Given the description of an element on the screen output the (x, y) to click on. 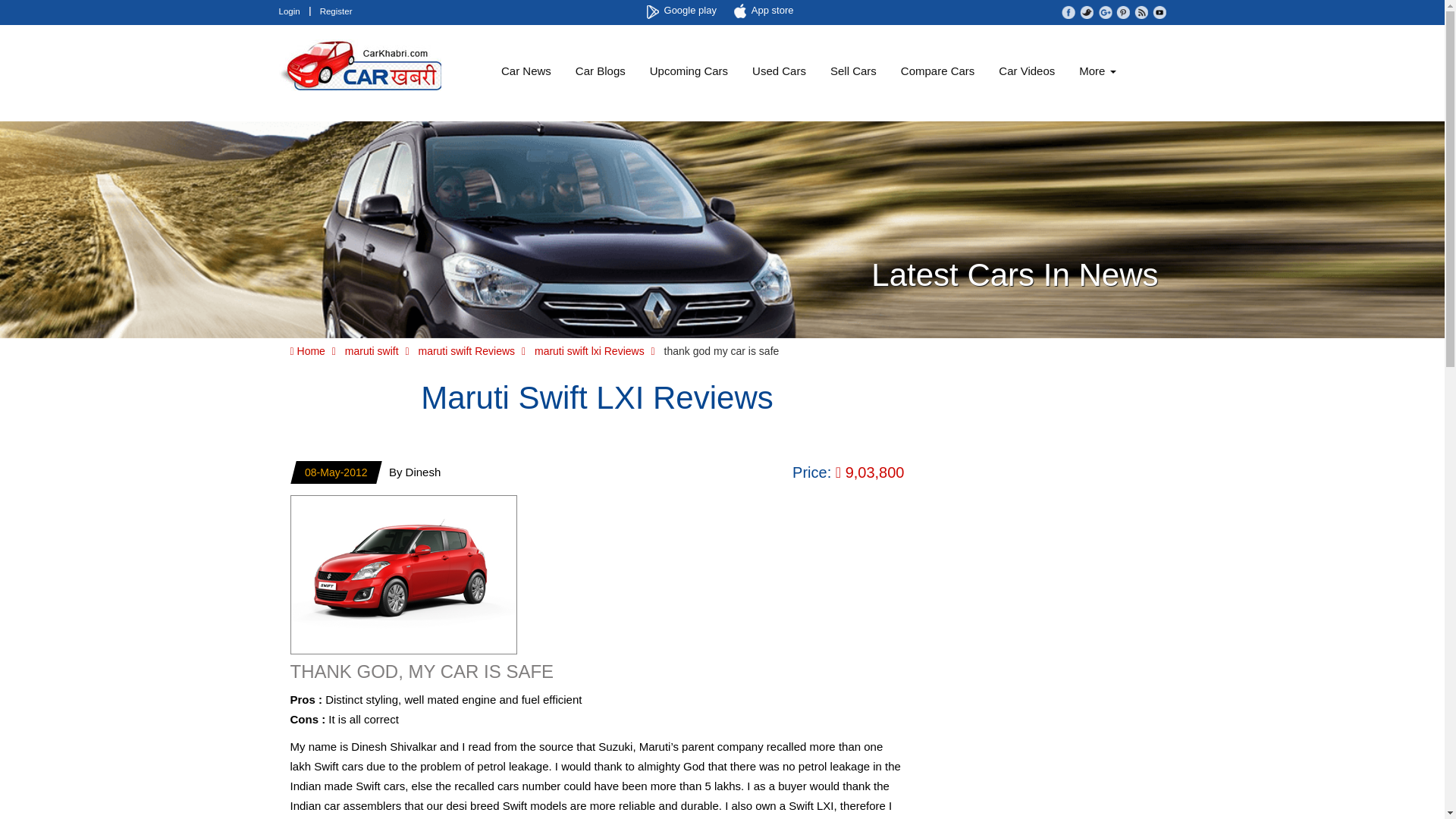
maruti swift lxi Reviews (589, 350)
More (1096, 70)
Car Blogs (600, 70)
Car News (526, 70)
Sell Cars (853, 70)
Upcoming Cars (688, 70)
Google play (683, 10)
Compare Cars (937, 70)
maruti swift (371, 350)
maruti swift (371, 350)
Home (306, 350)
maruti swift Reviews (466, 350)
App store (765, 10)
Login (289, 11)
Register (336, 11)
